Given the description of an element on the screen output the (x, y) to click on. 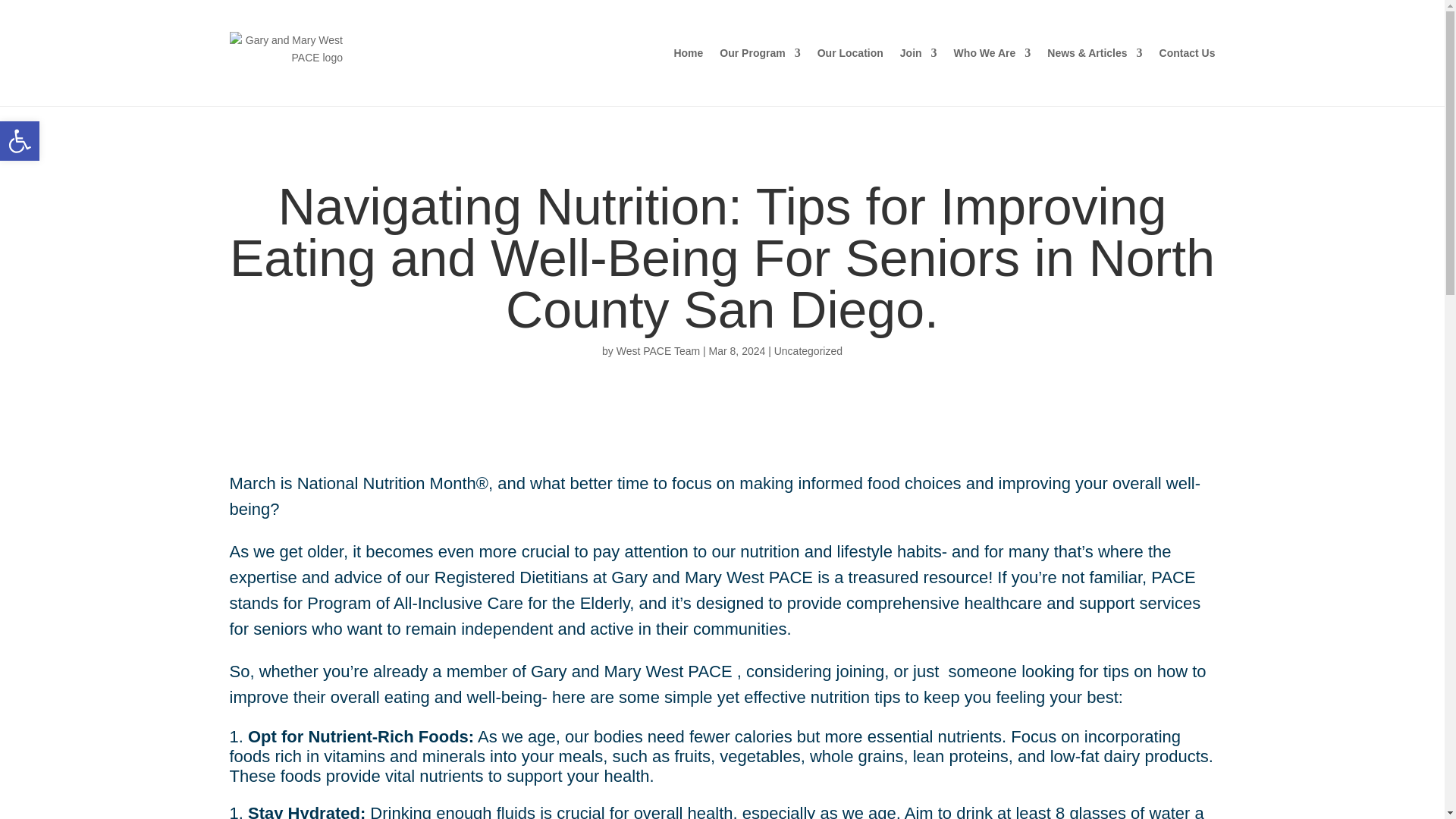
Accessibility Tools (19, 140)
Our Location (19, 140)
Accessibility Tools (849, 52)
Uncategorized (19, 140)
Who We Are (808, 350)
Our Program (991, 52)
West PACE Team (759, 52)
Contact Us (657, 350)
Posts by West PACE Team (1186, 52)
